Given the description of an element on the screen output the (x, y) to click on. 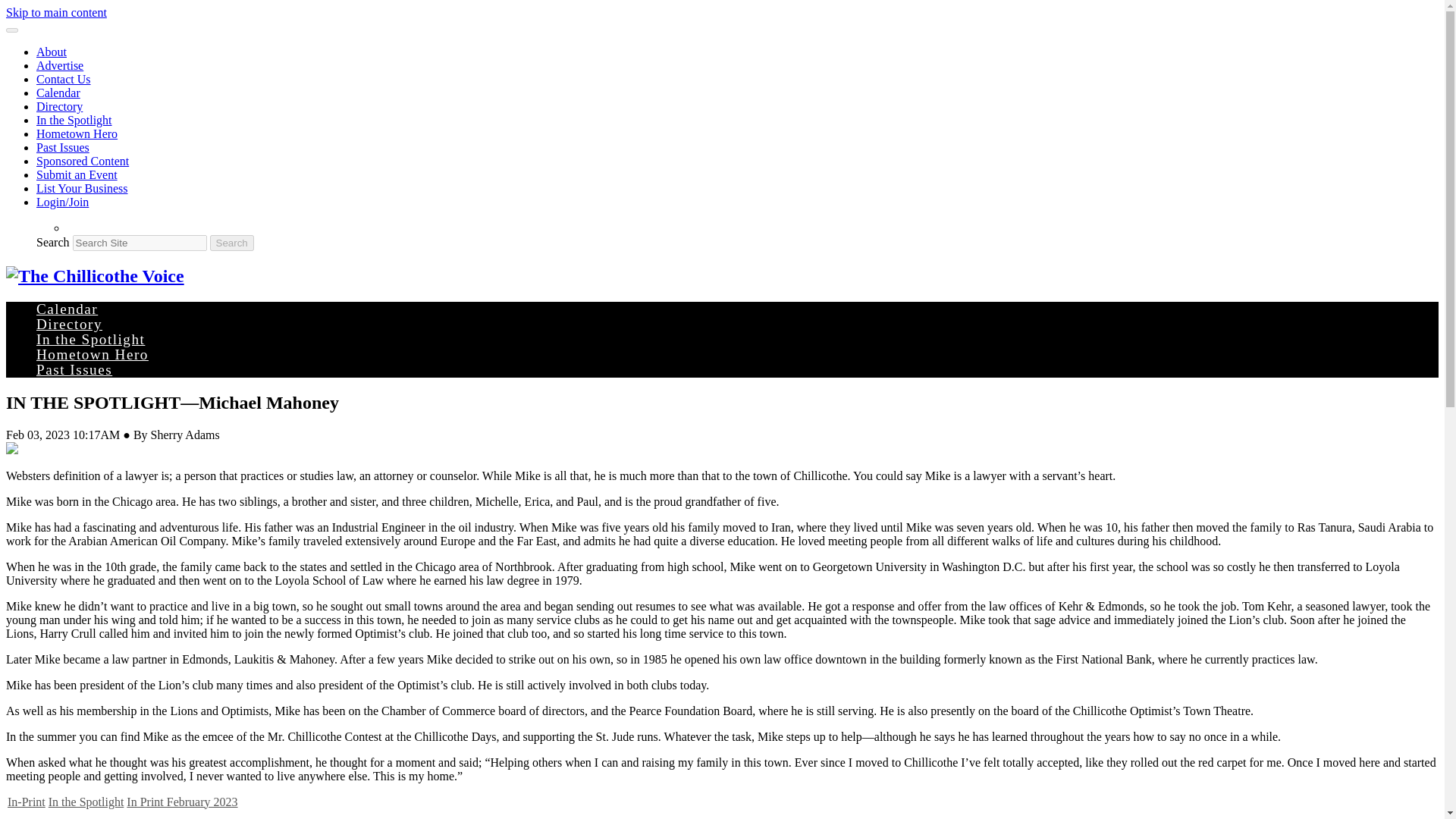
In Print February 2023 (181, 801)
Past Issues (74, 369)
Calendar (66, 308)
List Your Business (82, 187)
In-Print (26, 801)
In the Spotlight (74, 119)
Advertise (59, 65)
Sponsored Content (82, 160)
Contact Us (63, 78)
In the Spotlight (85, 801)
Hometown Hero (92, 354)
About (51, 51)
Search (231, 242)
In the Spotlight (90, 339)
Directory (68, 324)
